Given the description of an element on the screen output the (x, y) to click on. 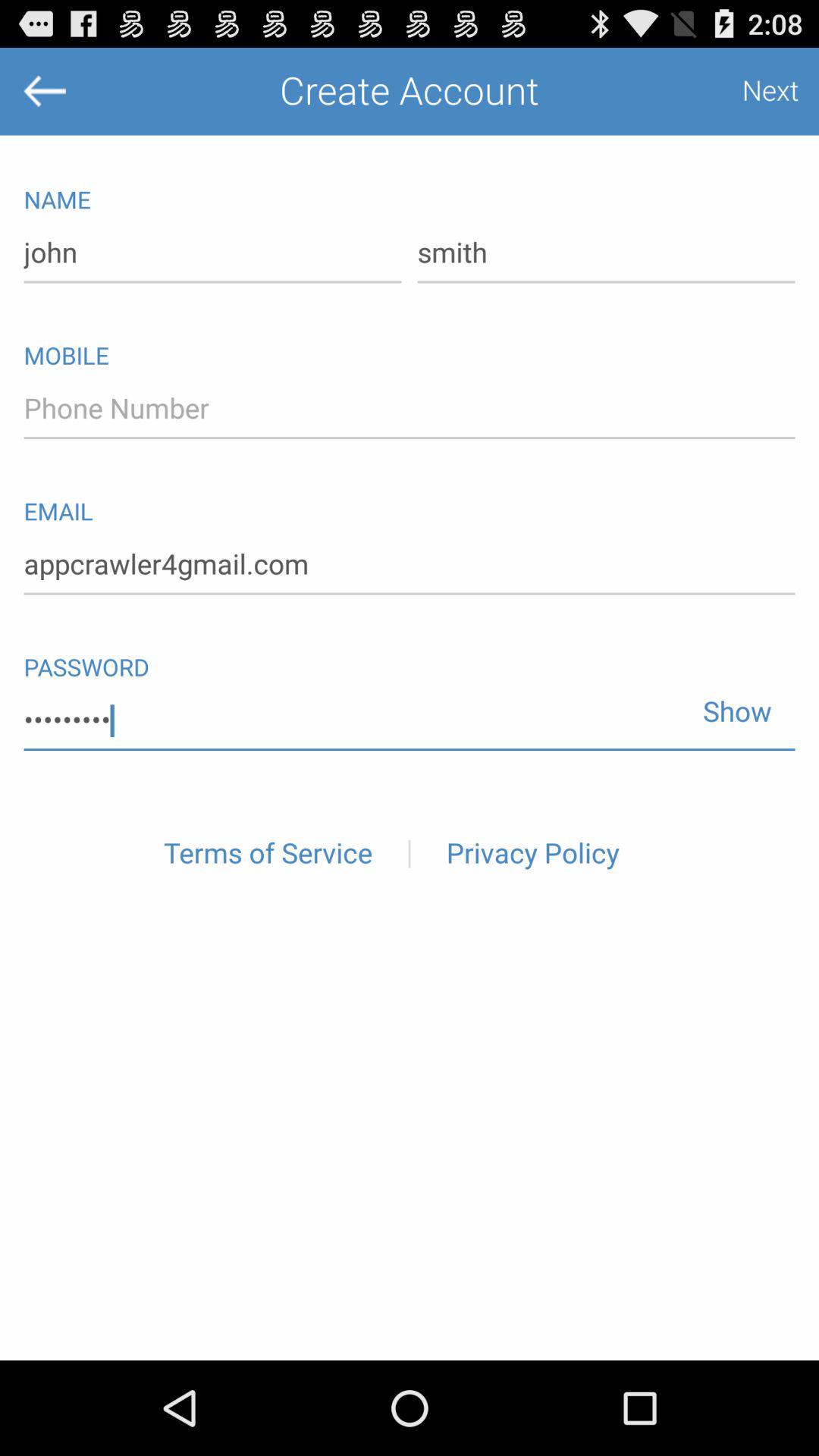
open smith item (606, 253)
